Given the description of an element on the screen output the (x, y) to click on. 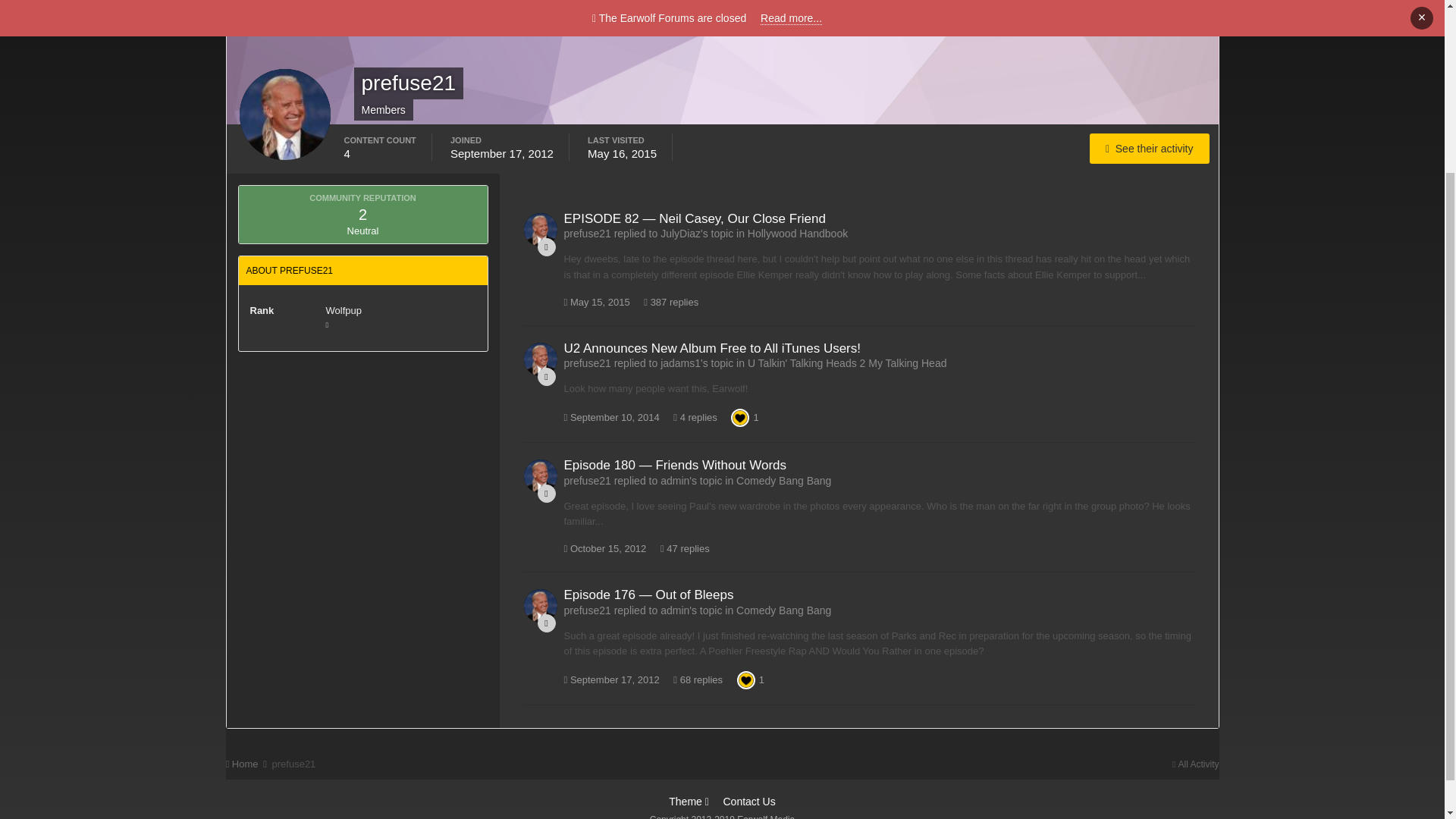
Post (545, 247)
387 replies (670, 301)
Like (739, 417)
Post (545, 493)
Go to prefuse21's profile (539, 229)
Hollywood Handbook (797, 233)
Post (545, 623)
Go to prefuse21's profile (539, 359)
Go to prefuse21's profile (539, 605)
prefuse21's Content (1149, 148)
